Given the description of an element on the screen output the (x, y) to click on. 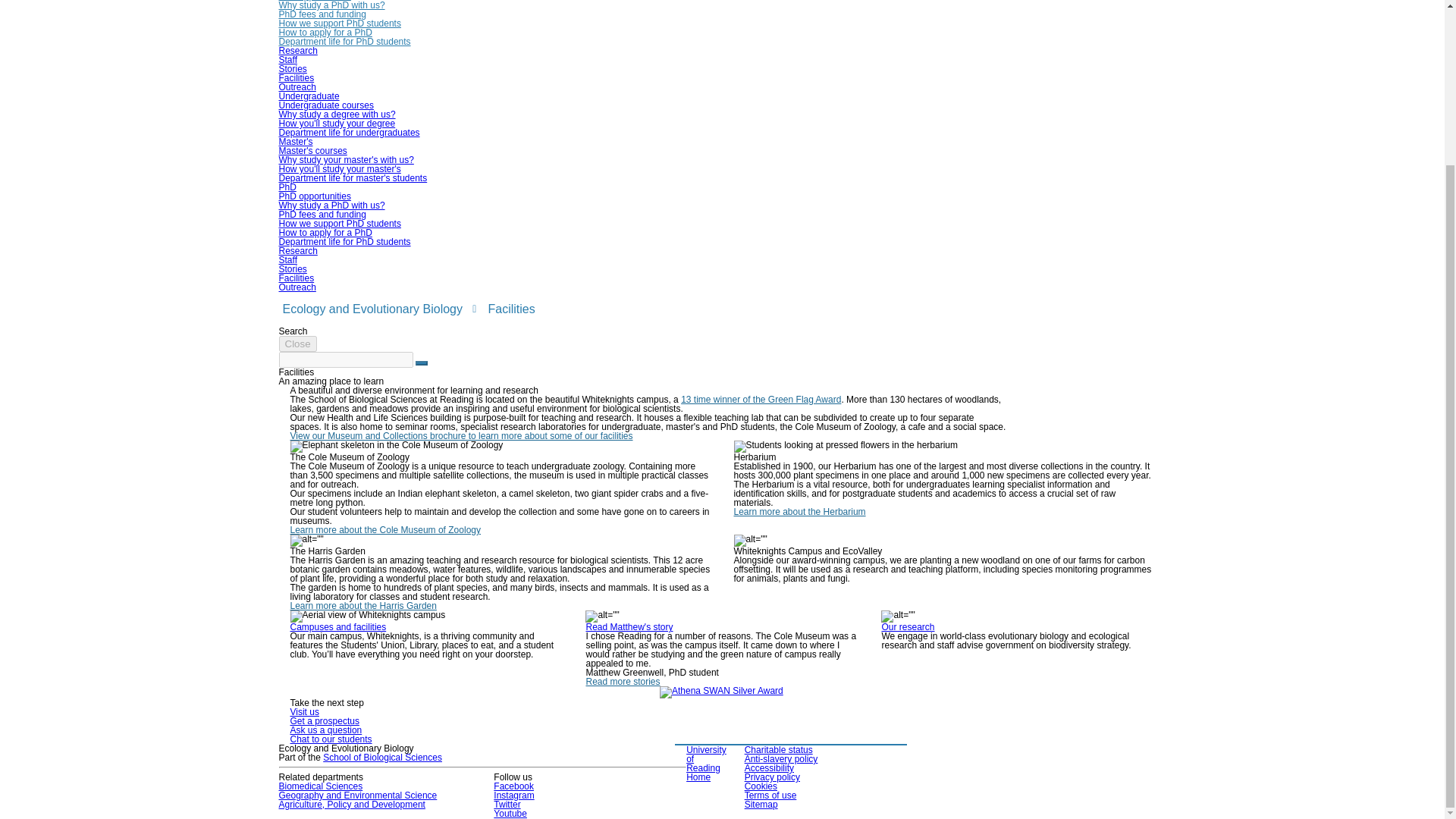
department-life-for-phd-students (344, 41)
How you'll study your master's (340, 168)
Master's (296, 141)
Department life for master's students (353, 177)
Research (298, 50)
Undergraduate courses (326, 104)
how-we-support-phd-students (340, 23)
Master's courses (313, 150)
research (298, 50)
Outreach (297, 86)
how-to-apply-for-a-phd (325, 32)
staff (288, 59)
Stories (293, 68)
phd-fees-and-funding (322, 14)
Department life for PhD students (344, 41)
